Given the description of an element on the screen output the (x, y) to click on. 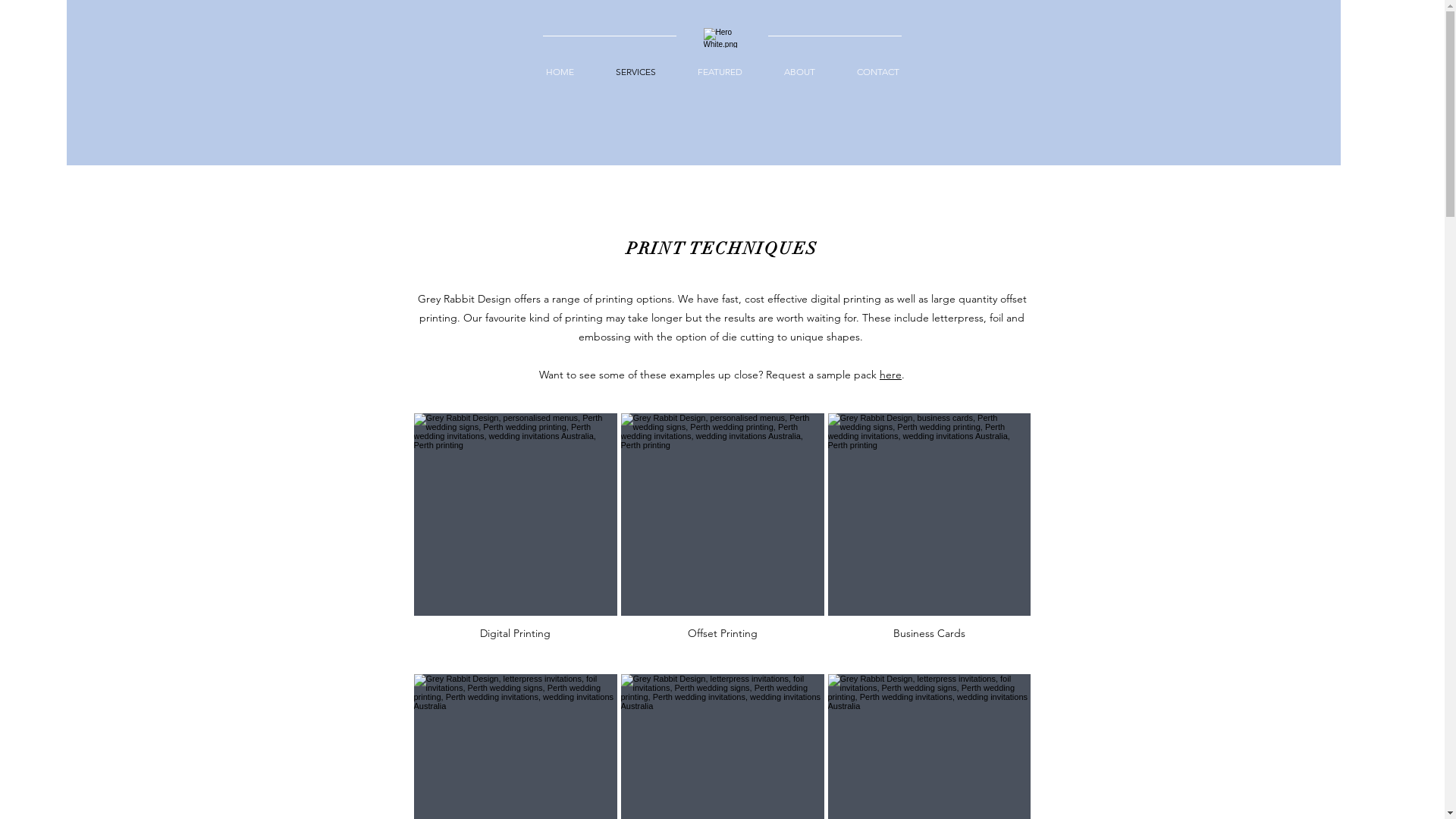
here Element type: text (890, 374)
FEATURED Element type: text (719, 71)
ABOUT Element type: text (798, 71)
SERVICES Element type: text (635, 71)
HOME Element type: text (559, 71)
CONTACT Element type: text (877, 71)
